Given the description of an element on the screen output the (x, y) to click on. 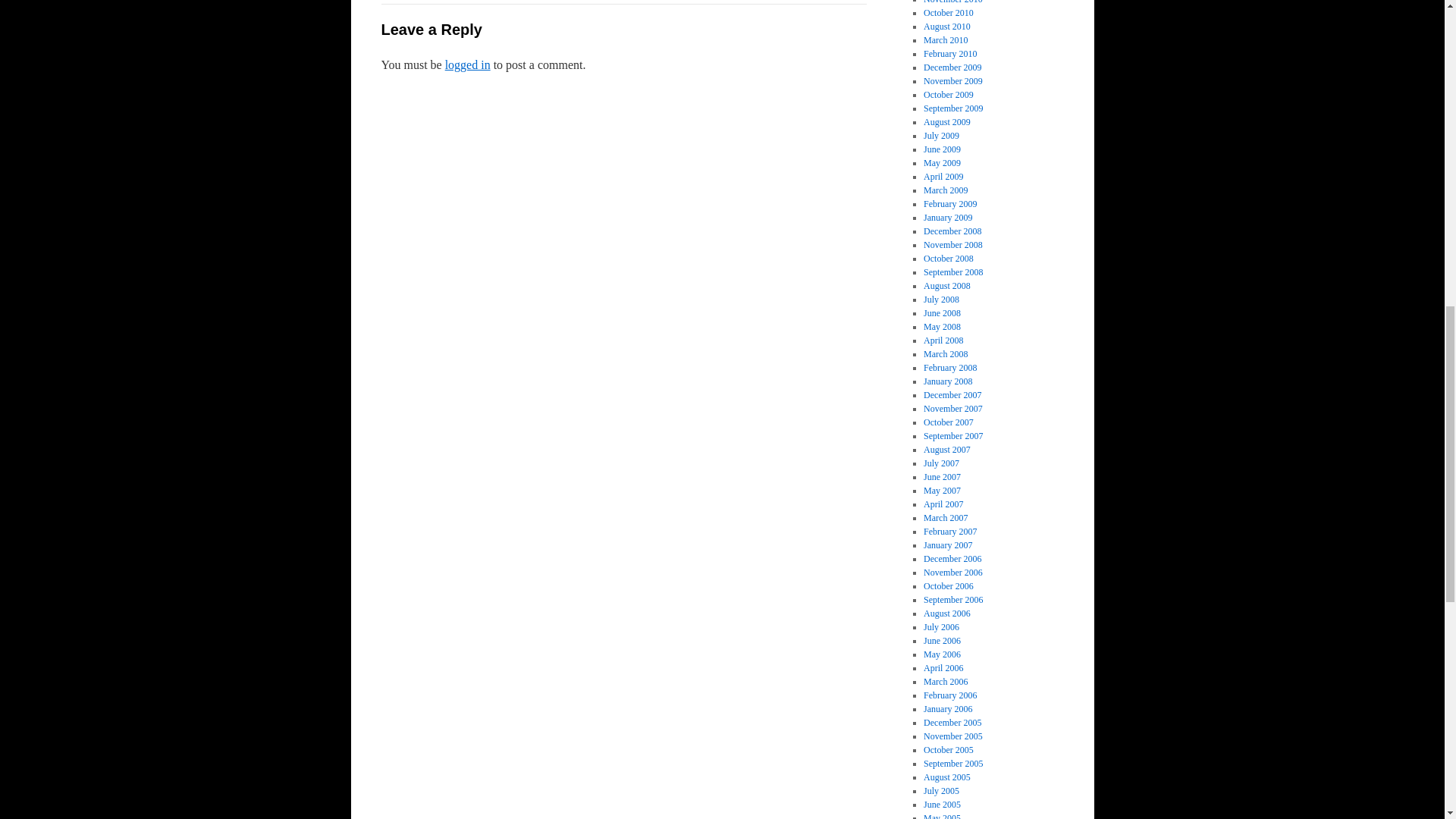
logged in (467, 64)
